Given the description of an element on the screen output the (x, y) to click on. 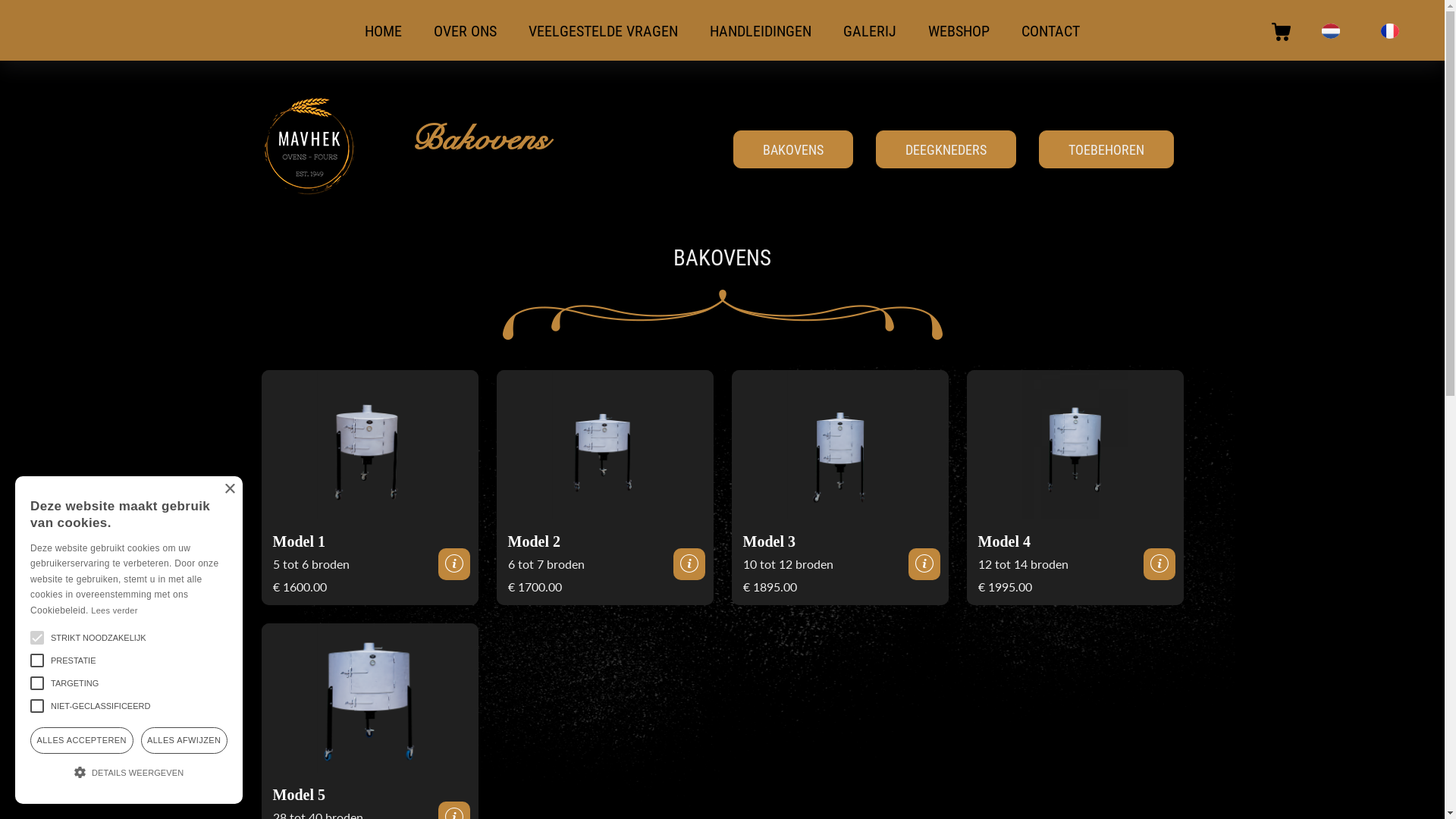
OVER ONS Element type: text (465, 30)
Lees verder Element type: text (114, 610)
HANDLEIDINGEN Element type: text (760, 30)
CONTACT Element type: text (1050, 30)
HOME Element type: text (383, 30)
TOEBEHOREN Element type: text (1105, 149)
BAKOVENS Element type: text (793, 149)
DEEGKNEDERS Element type: text (945, 149)
WEBSHOP Element type: text (958, 30)
GALERIJ Element type: text (869, 30)
VEELGESTELDE VRAGEN Element type: text (603, 30)
